Given the description of an element on the screen output the (x, y) to click on. 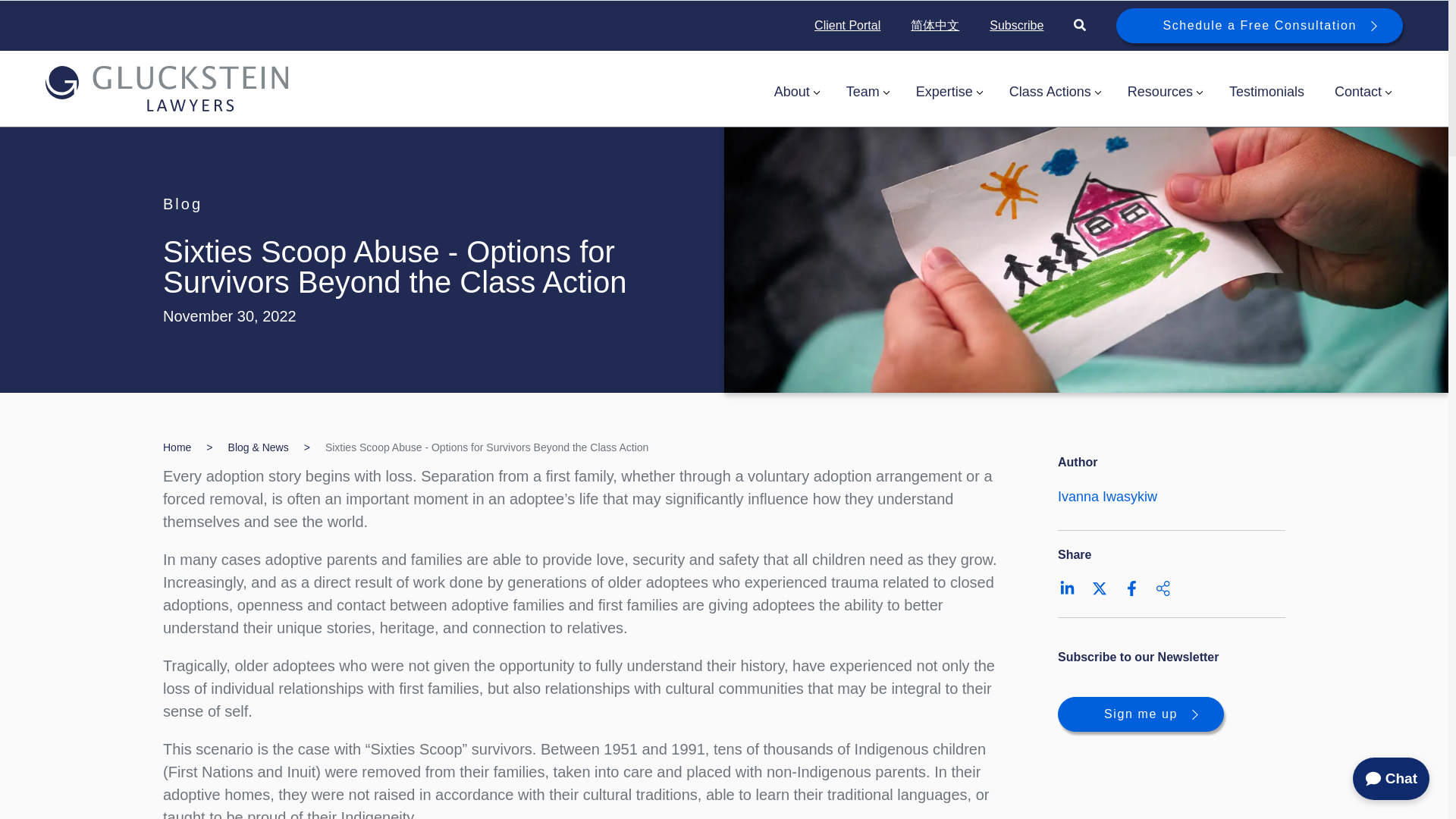
Share on Facebook (1131, 588)
Ivanna Iwasykiw (1107, 496)
Share This (1163, 588)
Share on LinkedIn (1067, 588)
Share on Twitter (1099, 588)
